Given the description of an element on the screen output the (x, y) to click on. 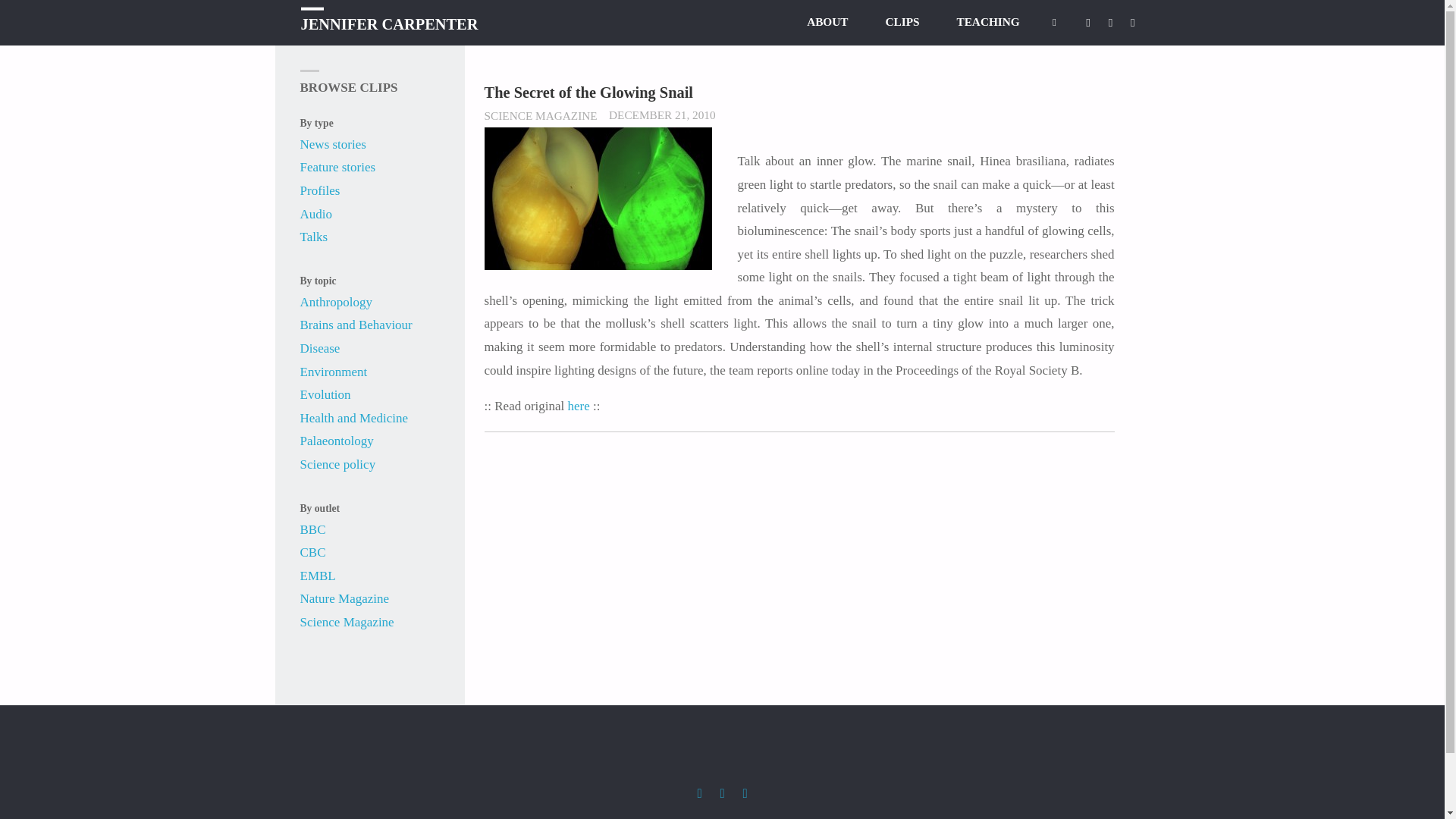
CBC (312, 552)
TEACHING (987, 27)
Audio (316, 214)
Science policy (337, 464)
CLIPS (901, 27)
here (578, 405)
Feature stories (337, 166)
Environment (333, 371)
Brains and Behaviour (355, 324)
Disease (319, 348)
Palaeontology (336, 440)
Feature stories (337, 166)
Anthropology (335, 301)
Profiles (319, 190)
sn-snails (597, 198)
